Given the description of an element on the screen output the (x, y) to click on. 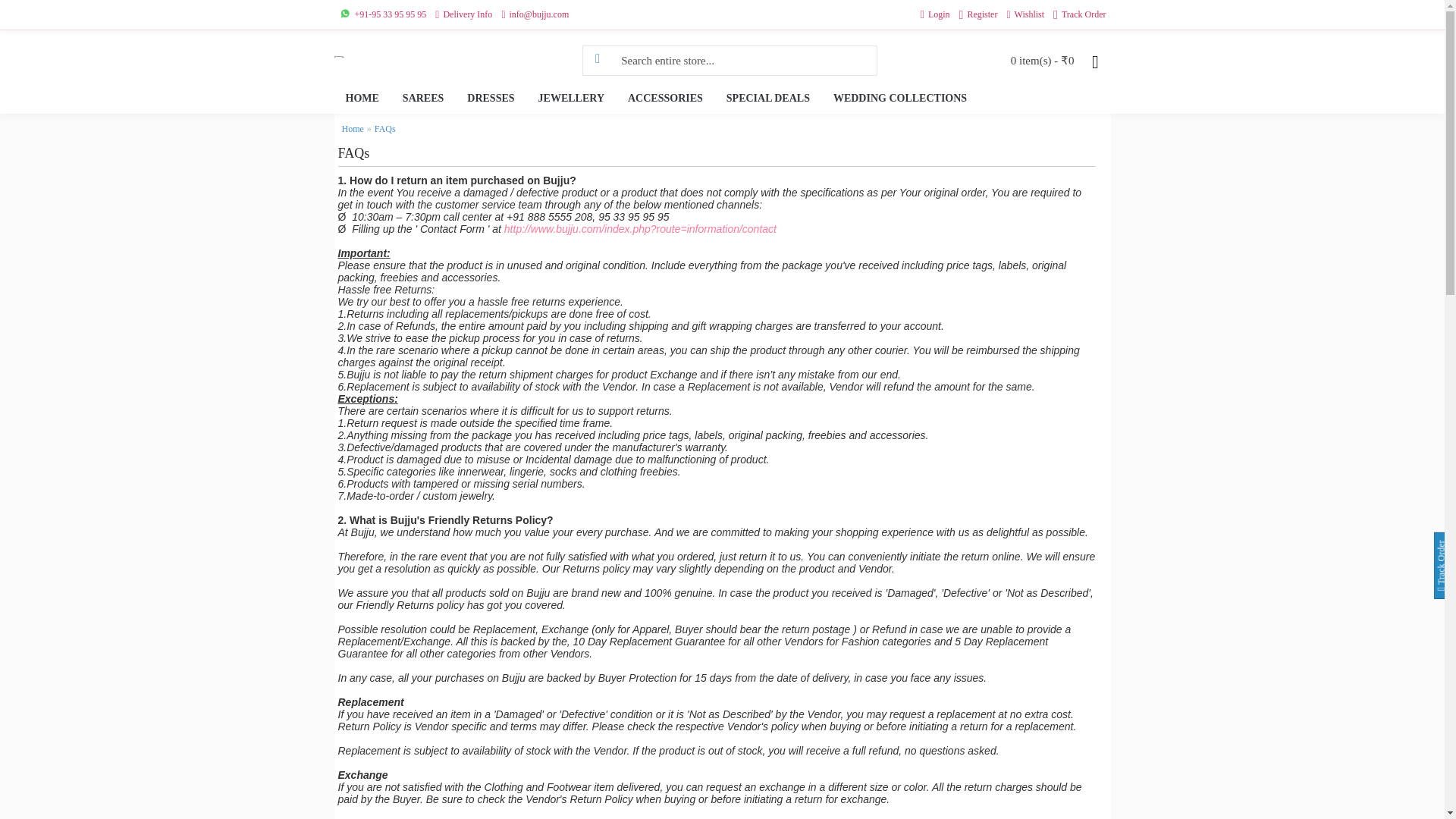
HOME (361, 98)
Login (935, 15)
Delivery Info (463, 15)
DRESSES (490, 98)
Wishlist (1024, 15)
Register (979, 15)
SAREES (422, 98)
JEWELLERY (571, 98)
Track Order (1078, 15)
